Given the description of an element on the screen output the (x, y) to click on. 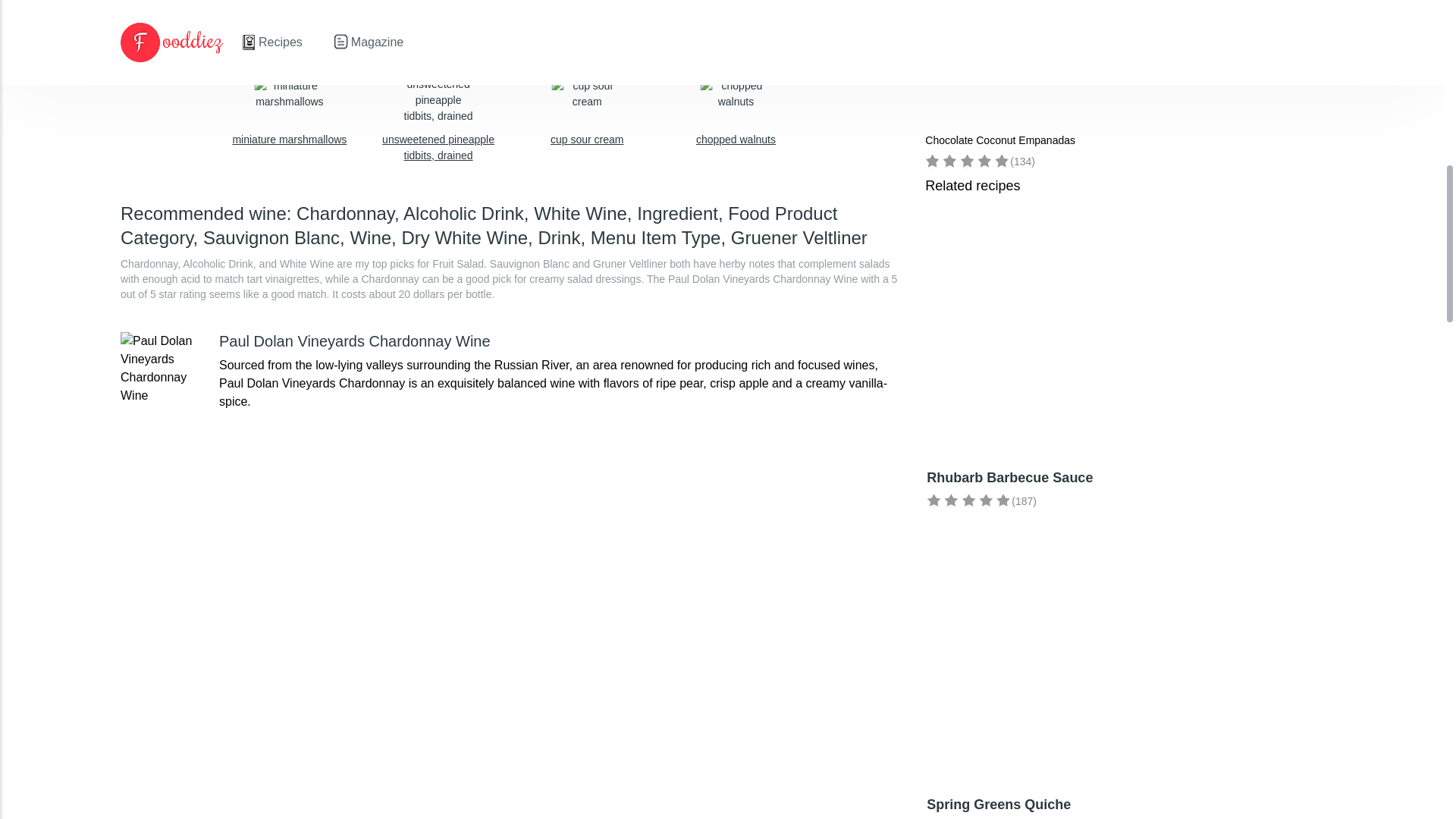
Rhubarb Barbecue Sauce (363, 4)
Spring Greens Quiche (438, 100)
